Given the description of an element on the screen output the (x, y) to click on. 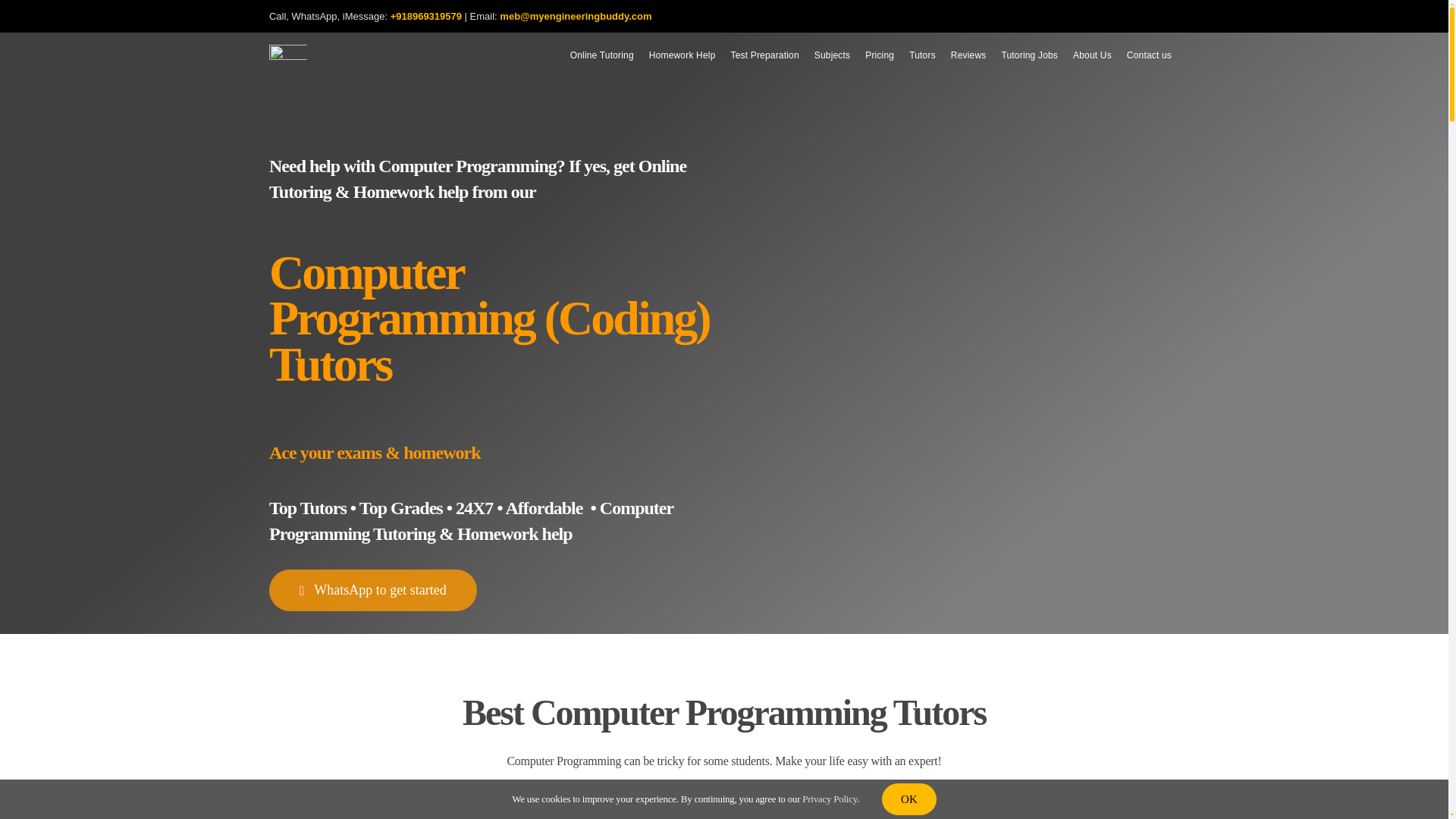
Reviews (968, 54)
Contact us (1149, 54)
About Us (1092, 54)
Test Preparation (764, 54)
Tutoring Jobs (1028, 54)
Homework Help (682, 54)
Tutors (922, 54)
Online Tutoring (602, 54)
Subjects (831, 54)
WhatsApp to get started (373, 589)
Pricing (879, 54)
